Given the description of an element on the screen output the (x, y) to click on. 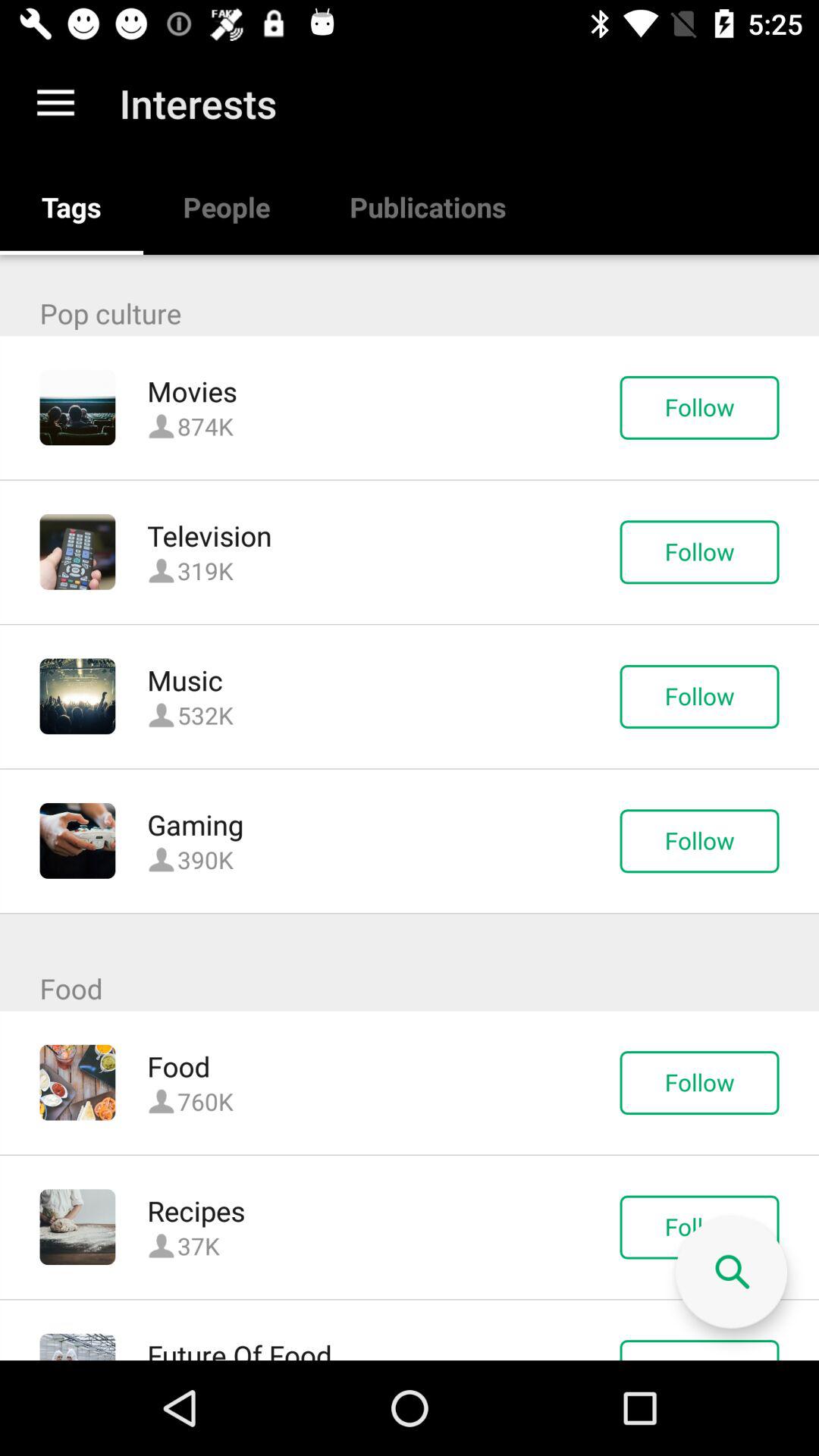
open item to the left of interests app (55, 103)
